Given the description of an element on the screen output the (x, y) to click on. 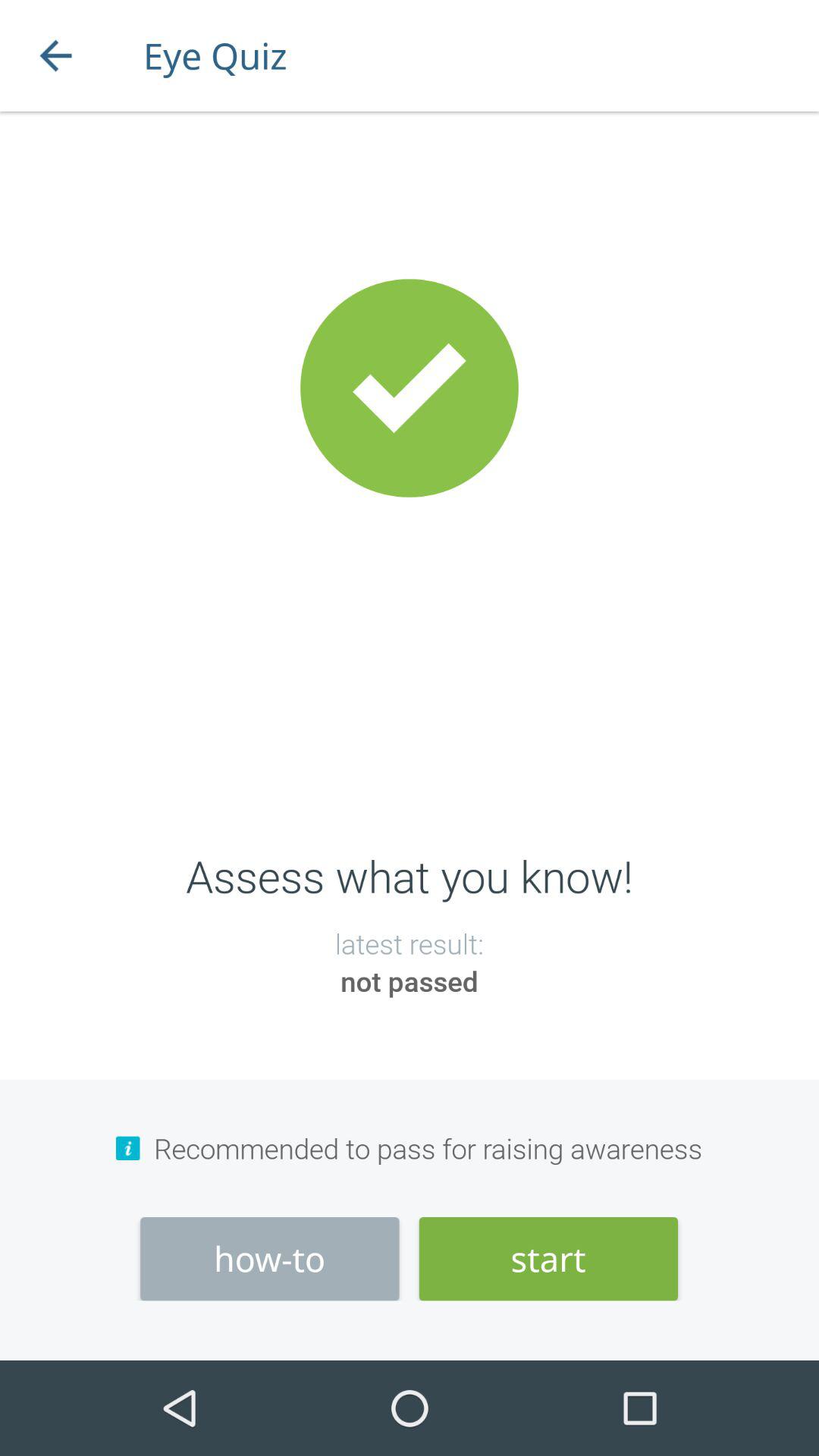
choose the icon next to the eye quiz (55, 55)
